Given the description of an element on the screen output the (x, y) to click on. 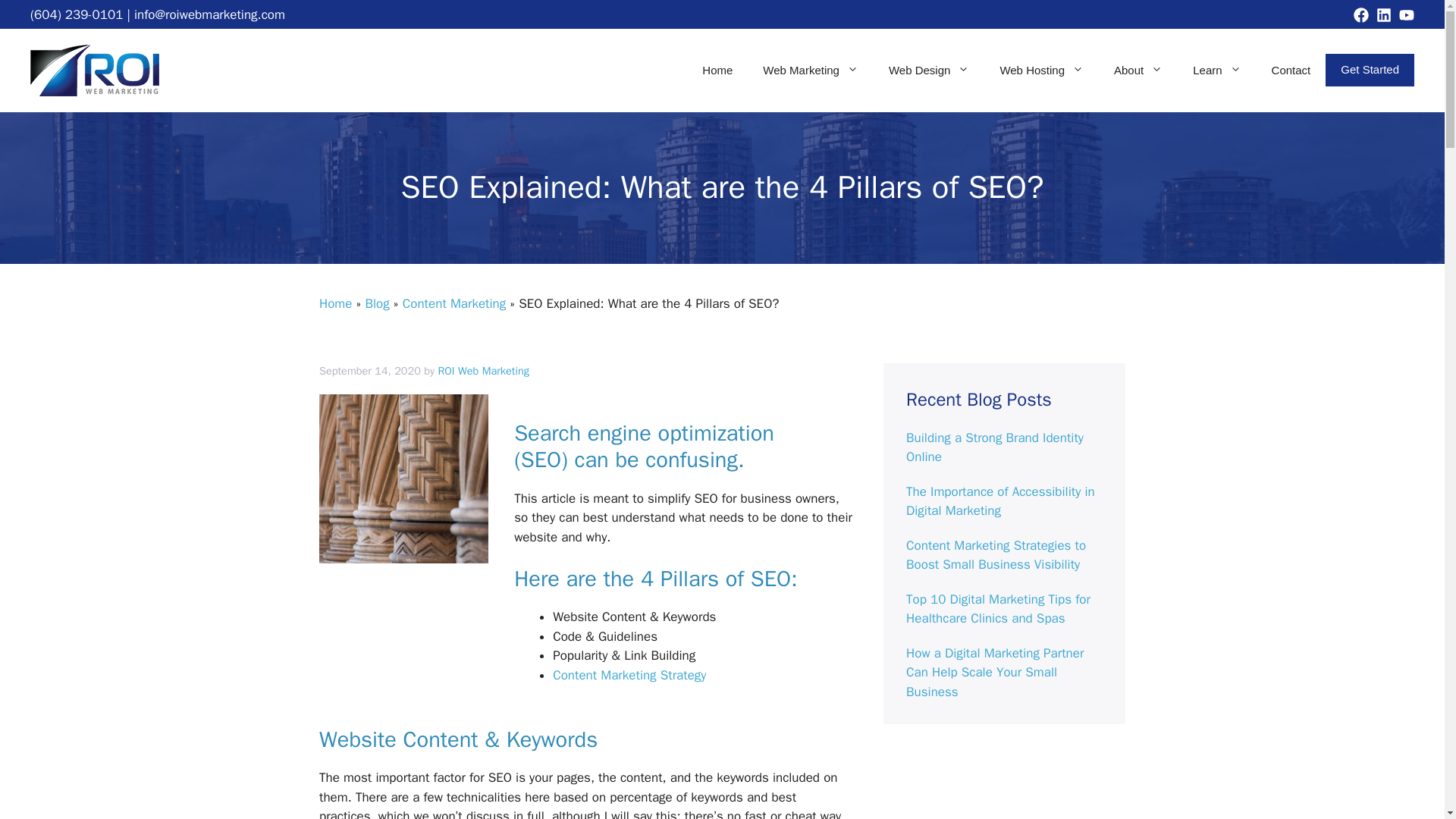
Blog (376, 303)
Content Marketing (454, 303)
Web Hosting (1041, 69)
About (1138, 69)
Web Design (928, 69)
Learn (1216, 69)
Home (335, 303)
View all posts by ROI Web Marketing (483, 370)
Home (717, 69)
Web Marketing (810, 69)
